Given the description of an element on the screen output the (x, y) to click on. 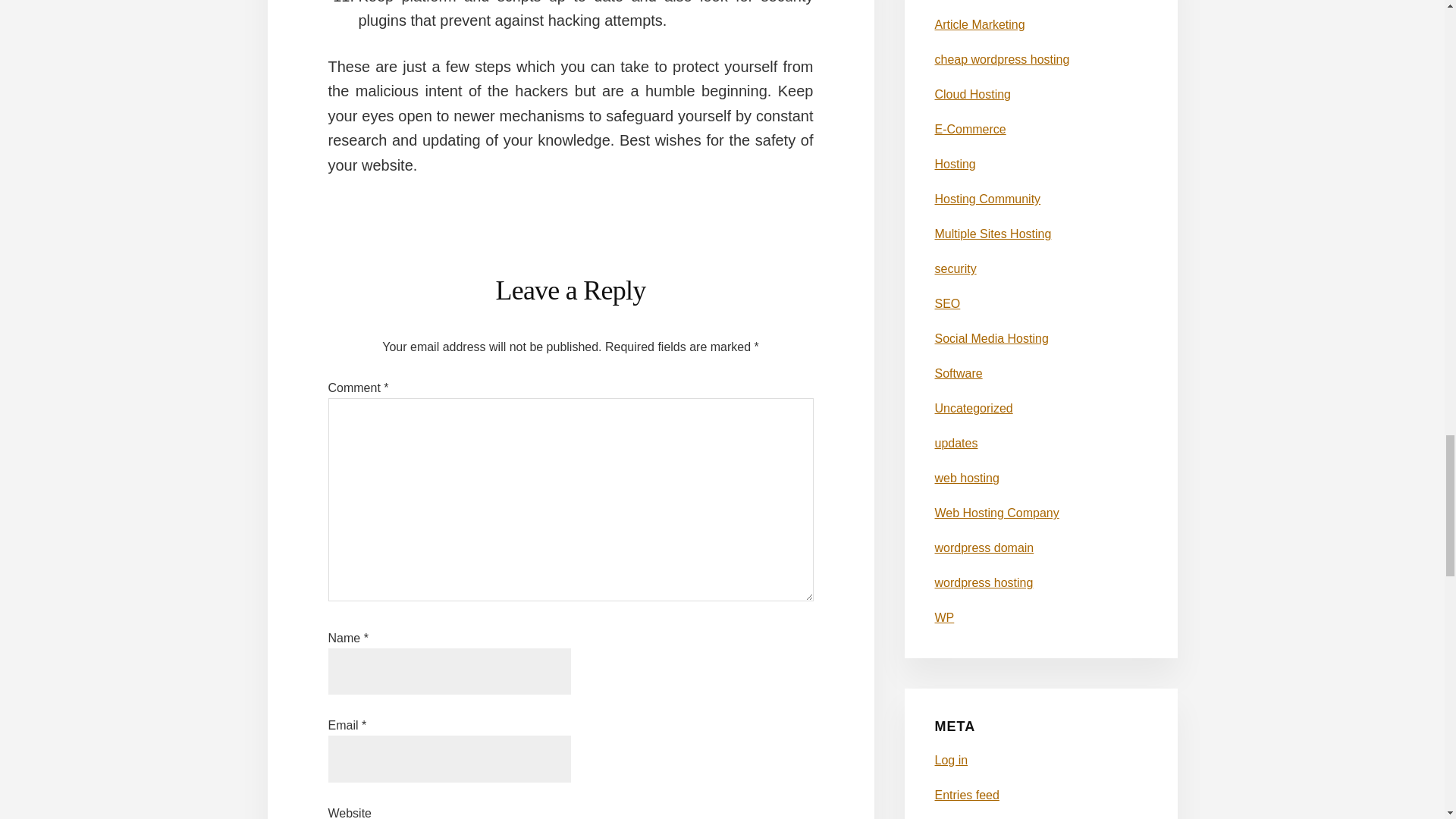
Hosting Community (987, 198)
Article Marketing (979, 24)
security (954, 268)
cheap wordpress hosting (1001, 59)
Cloud Hosting (972, 93)
Multiple Sites Hosting (992, 233)
Hosting (954, 164)
E-Commerce (970, 128)
